Given the description of an element on the screen output the (x, y) to click on. 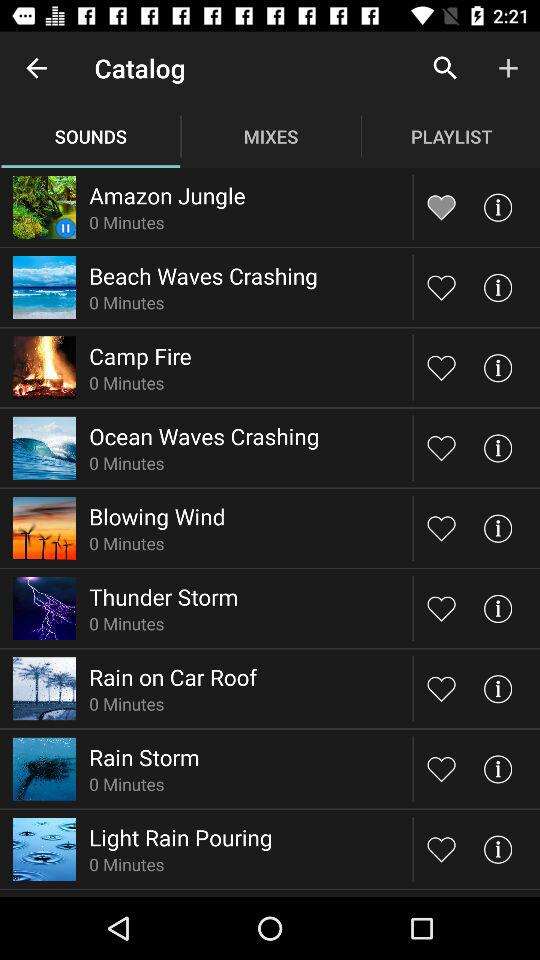
like sound (441, 608)
